Given the description of an element on the screen output the (x, y) to click on. 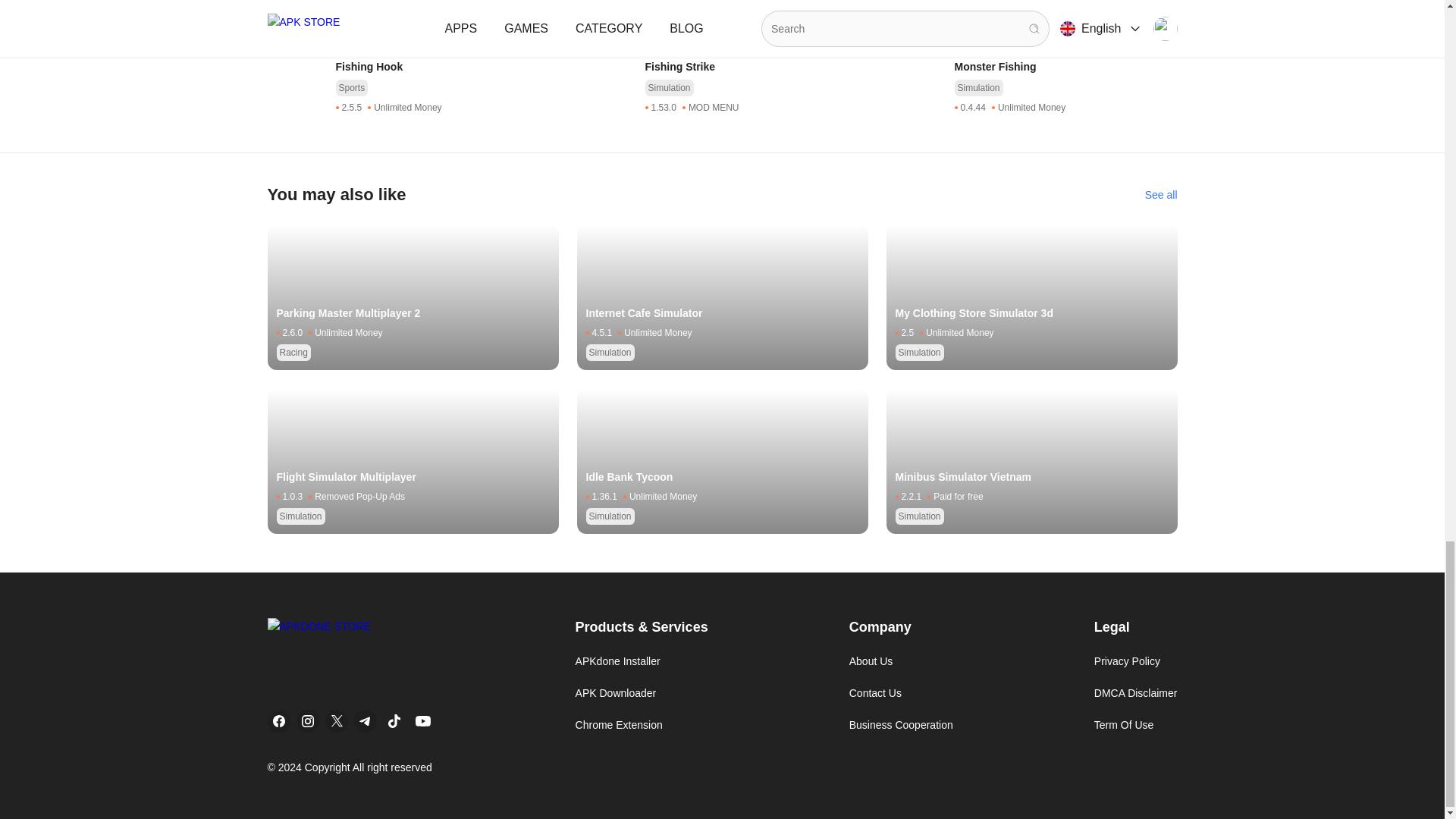
Simulation (359, 228)
Simulation (359, 154)
Let's Fish (756, 133)
Ultimate Fishing Simulator (445, 207)
Fishing Life (1064, 133)
Submit (296, 9)
Fishing Clash (445, 133)
Similar app (1160, 95)
Simulation (669, 154)
Sports (970, 154)
